Given the description of an element on the screen output the (x, y) to click on. 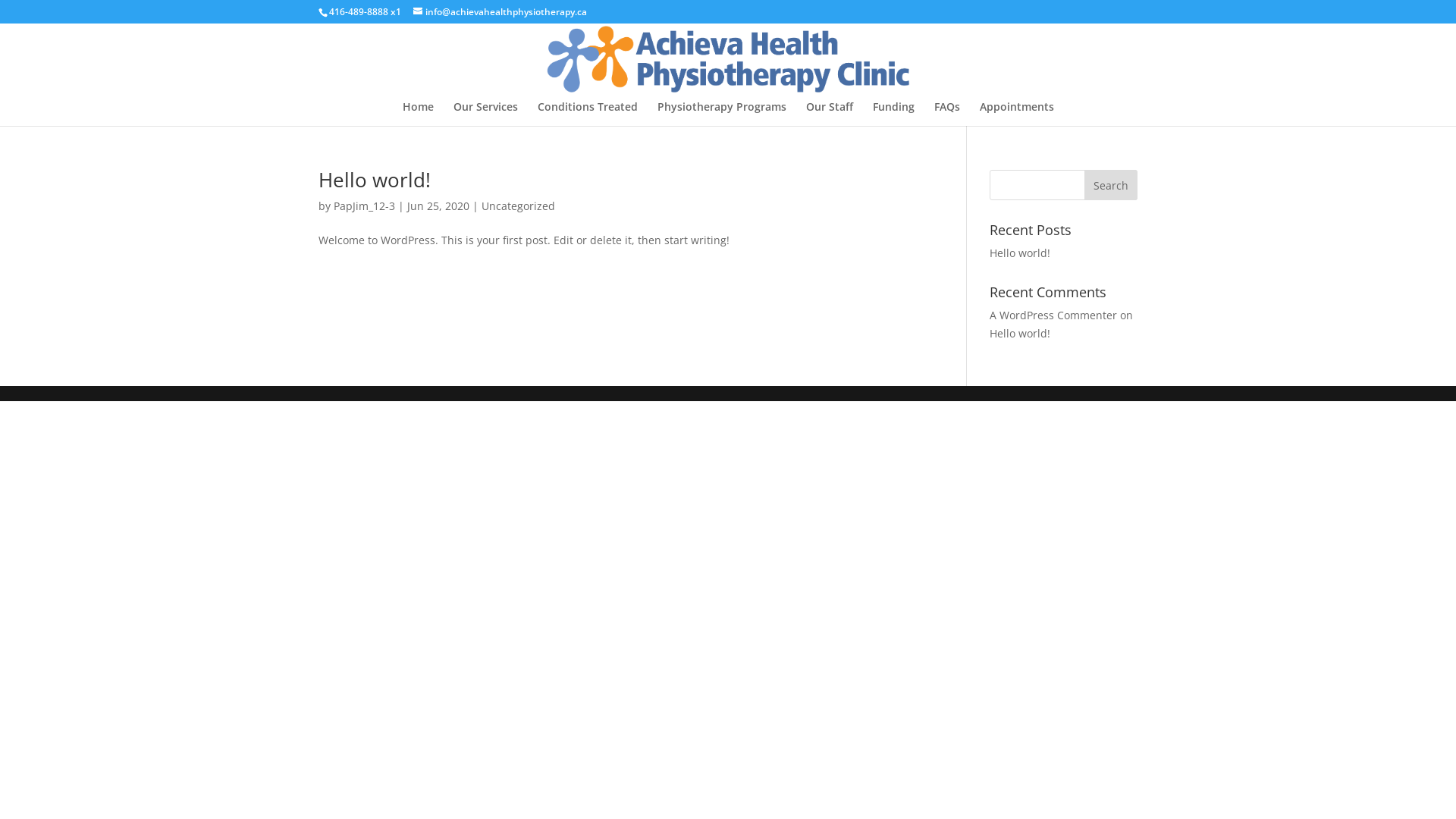
Search Element type: text (1110, 184)
info@achievahealthphysiotherapy.ca Element type: text (499, 11)
Hello world! Element type: text (374, 179)
Physiotherapy Programs Element type: text (720, 113)
FAQs Element type: text (947, 113)
Conditions Treated Element type: text (586, 113)
Uncategorized Element type: text (518, 205)
Appointments Element type: text (1016, 113)
Hello world! Element type: text (1019, 252)
Funding Element type: text (892, 113)
Our Staff Element type: text (828, 113)
Home Element type: text (417, 113)
PapJim_12-3 Element type: text (364, 205)
A WordPress Commenter Element type: text (1053, 314)
Hello world! Element type: text (1019, 333)
Our Services Element type: text (485, 113)
